Given the description of an element on the screen output the (x, y) to click on. 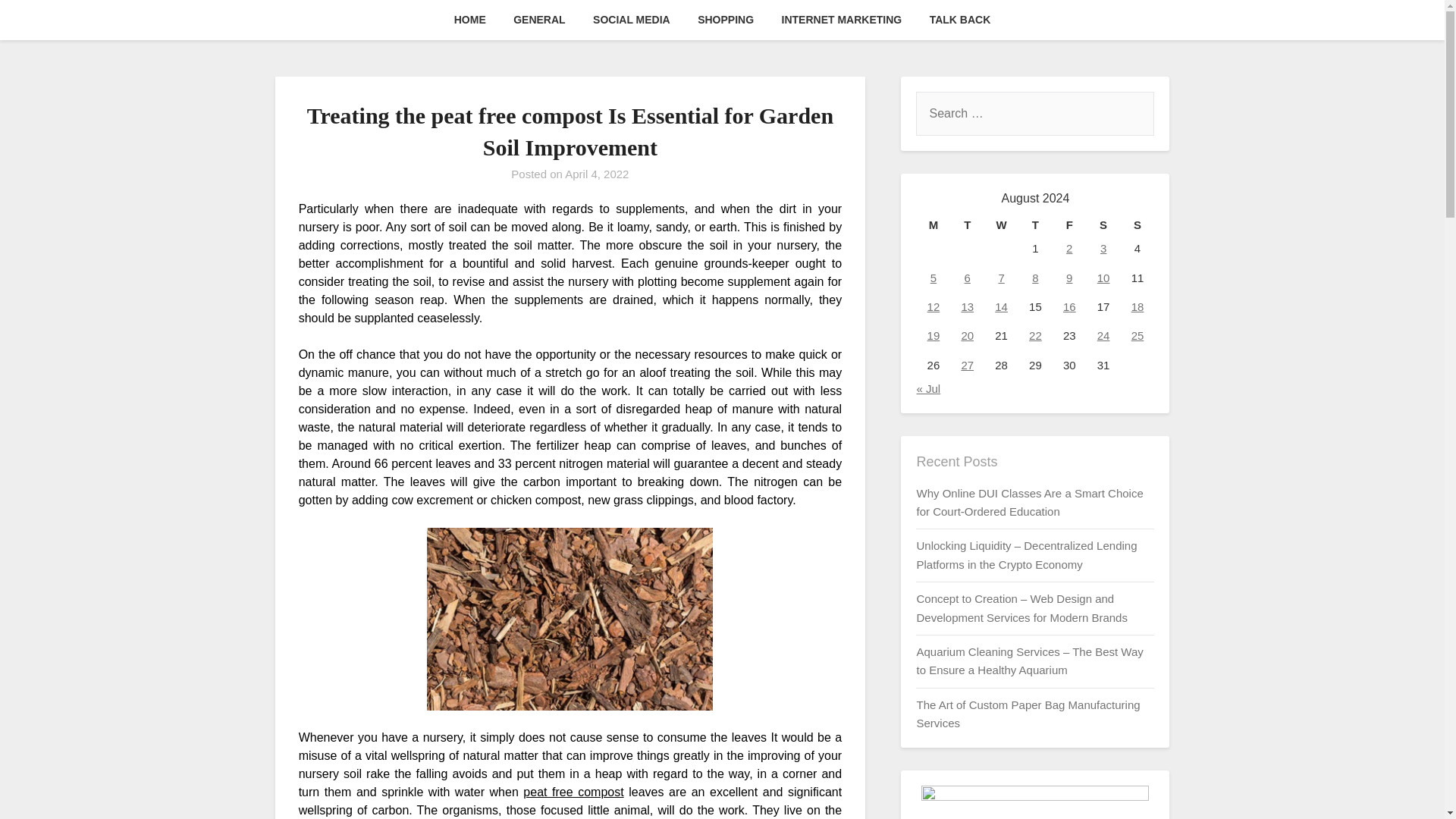
Monday (932, 225)
14 (1000, 306)
16 (1068, 306)
13 (967, 306)
peat free compost (572, 791)
HOME (469, 20)
Search (37, 22)
TALK BACK (960, 20)
22 (1035, 335)
20 (967, 335)
